Given the description of an element on the screen output the (x, y) to click on. 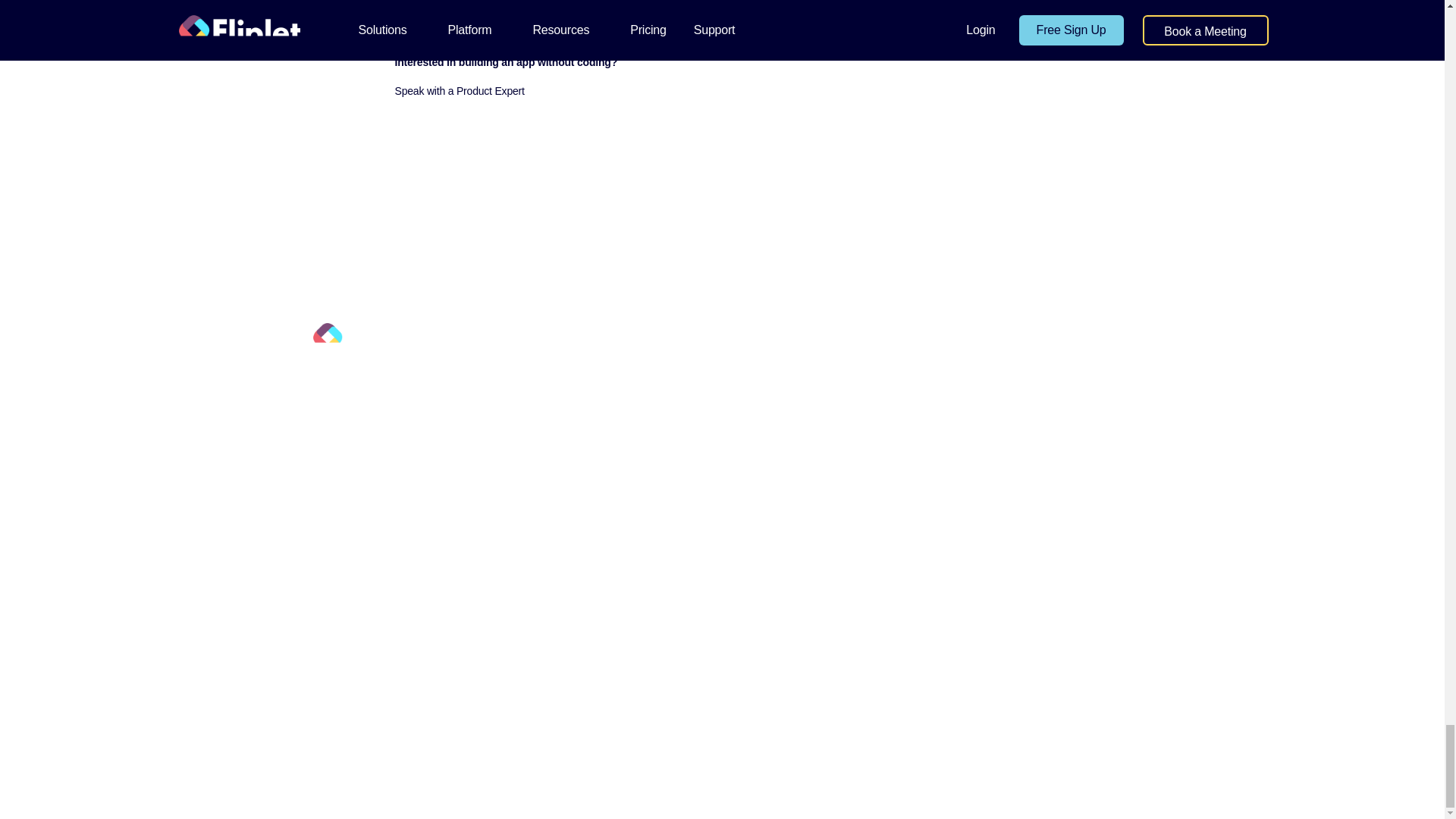
Follow on Youtube (384, 446)
Follow on LinkedIn (354, 446)
fliplet-logo (370, 339)
Follow on Twitter (324, 446)
Follow on Facebook (324, 476)
